Given the description of an element on the screen output the (x, y) to click on. 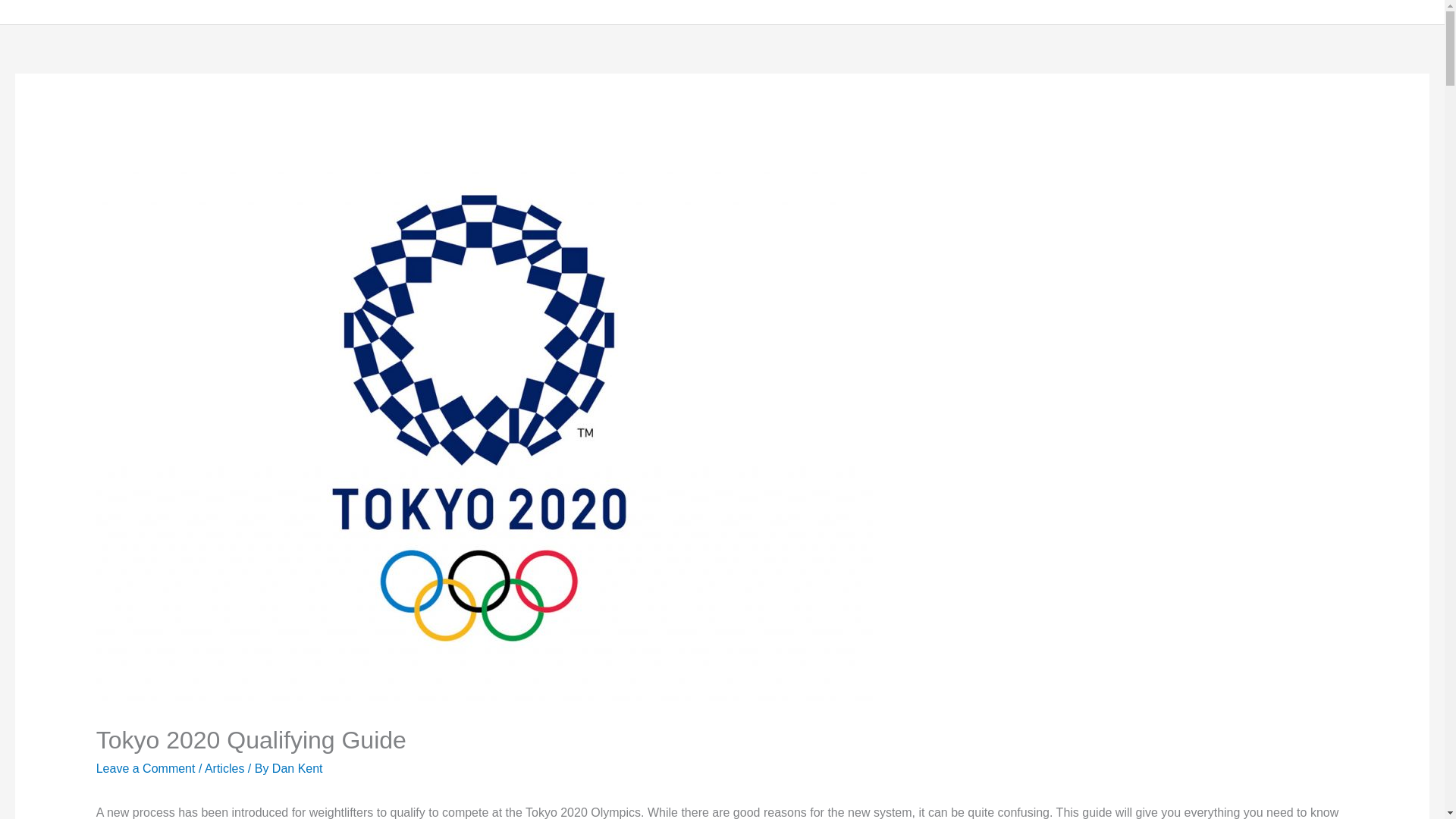
Articles (224, 768)
Leave a Comment (145, 768)
Dan Kent (297, 768)
View all posts by Dan Kent (297, 768)
